Given the description of an element on the screen output the (x, y) to click on. 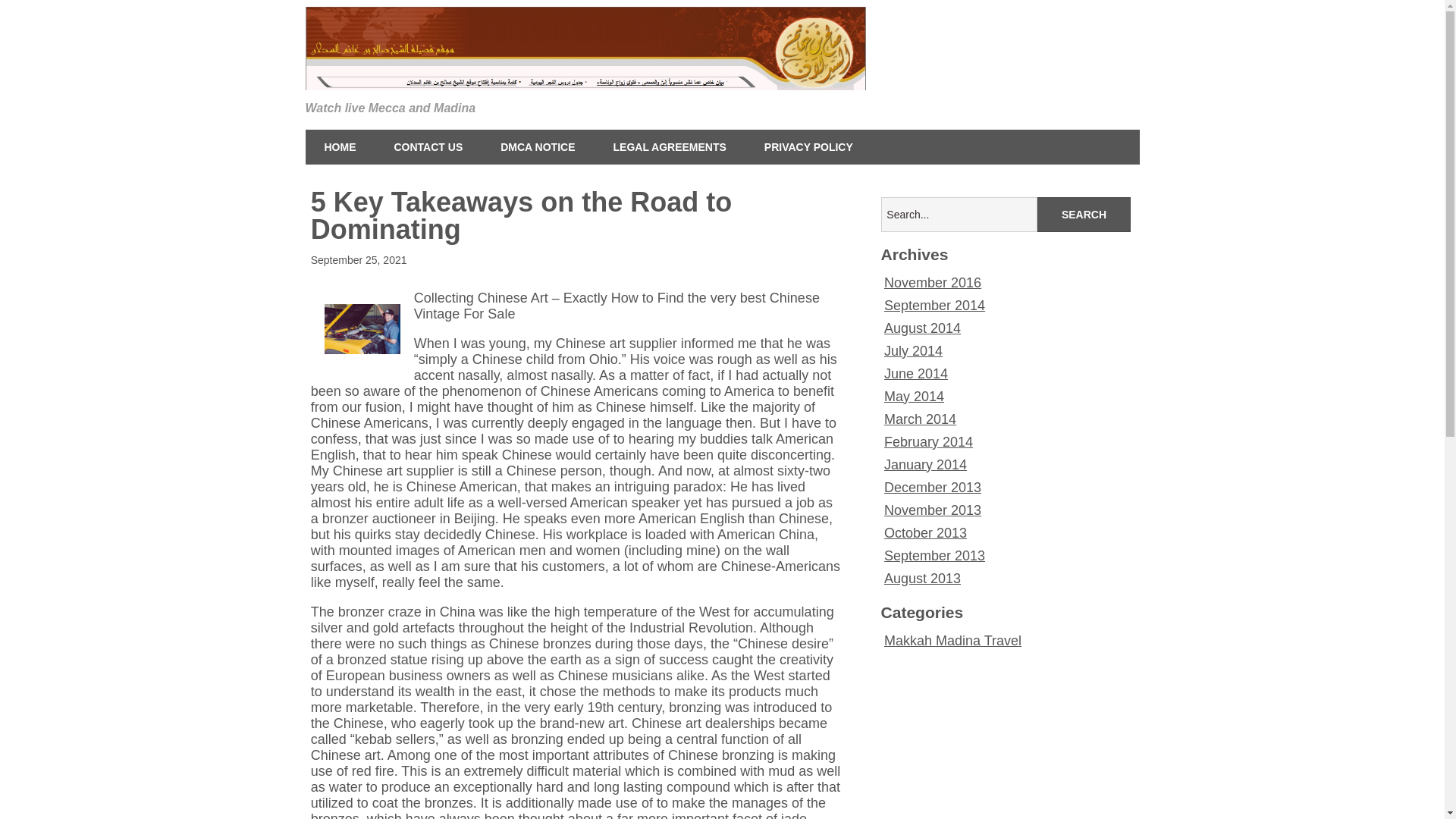
DMCA NOTICE (537, 146)
HOME (339, 146)
LEGAL AGREEMENTS (669, 146)
CONTACT US (427, 146)
